Given the description of an element on the screen output the (x, y) to click on. 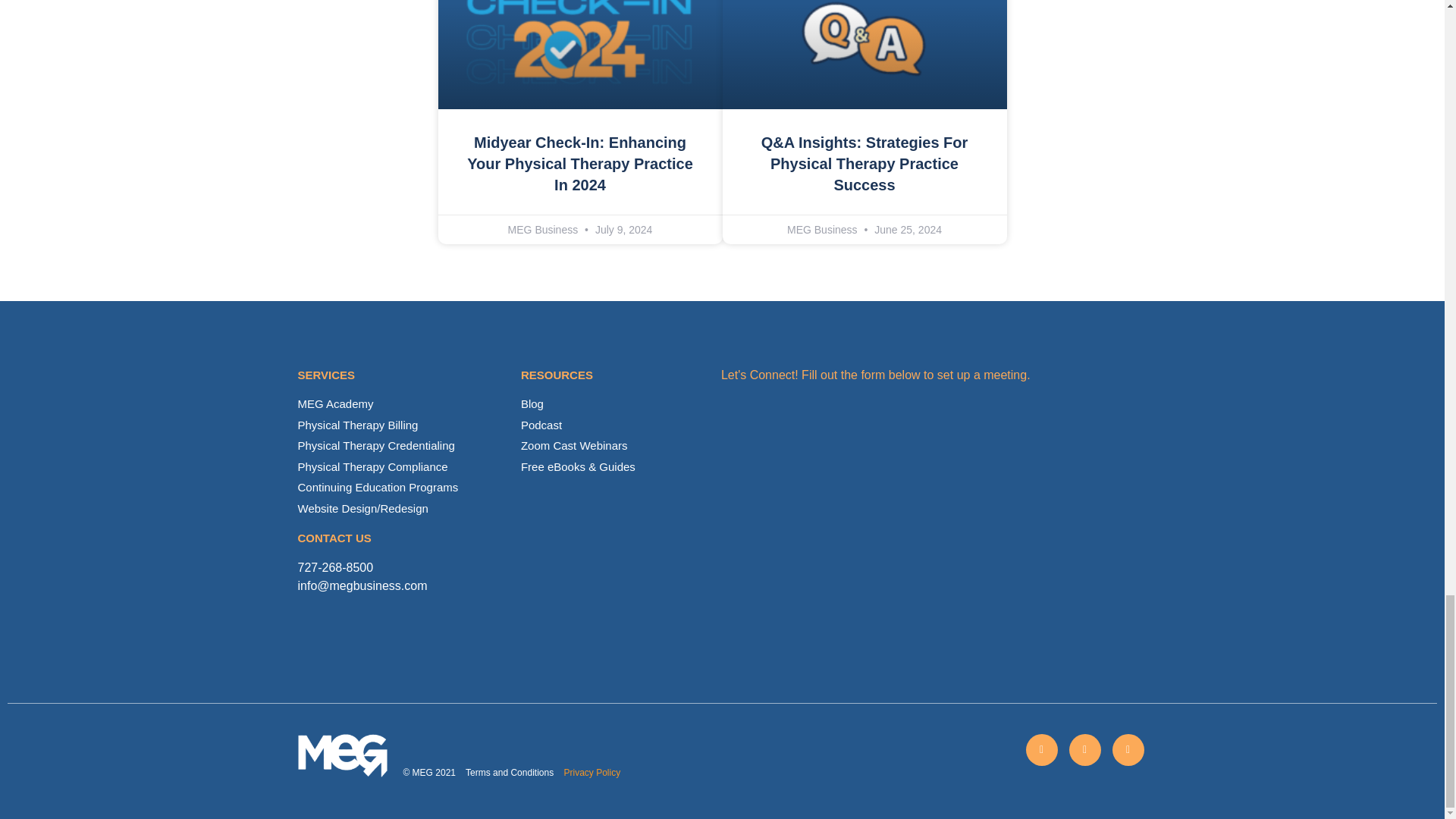
Form 0 (932, 515)
